Given the description of an element on the screen output the (x, y) to click on. 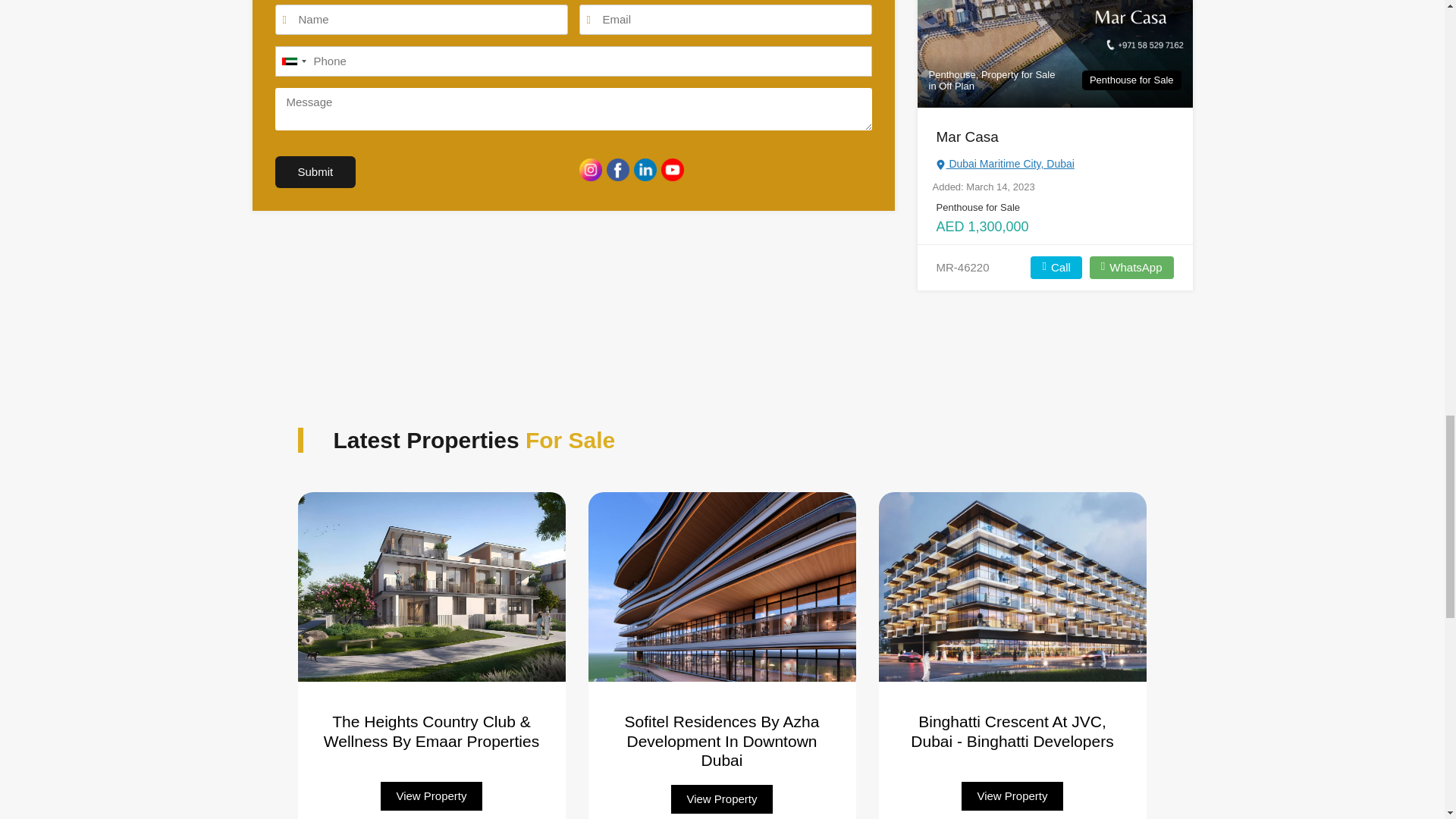
Submit (315, 172)
